Given the description of an element on the screen output the (x, y) to click on. 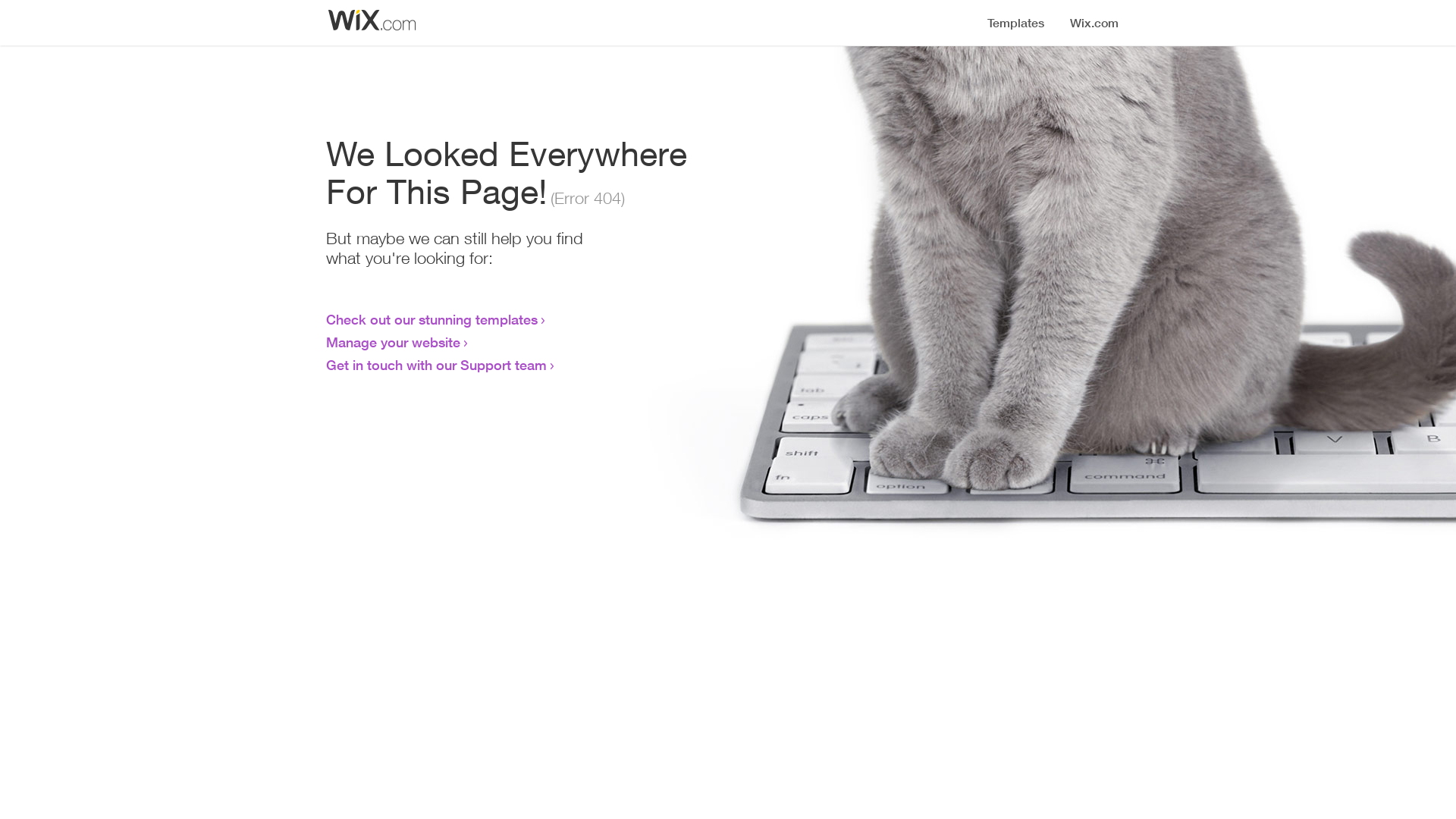
Check out our stunning templates Element type: text (431, 318)
Get in touch with our Support team Element type: text (436, 364)
Manage your website Element type: text (393, 341)
